Given the description of an element on the screen output the (x, y) to click on. 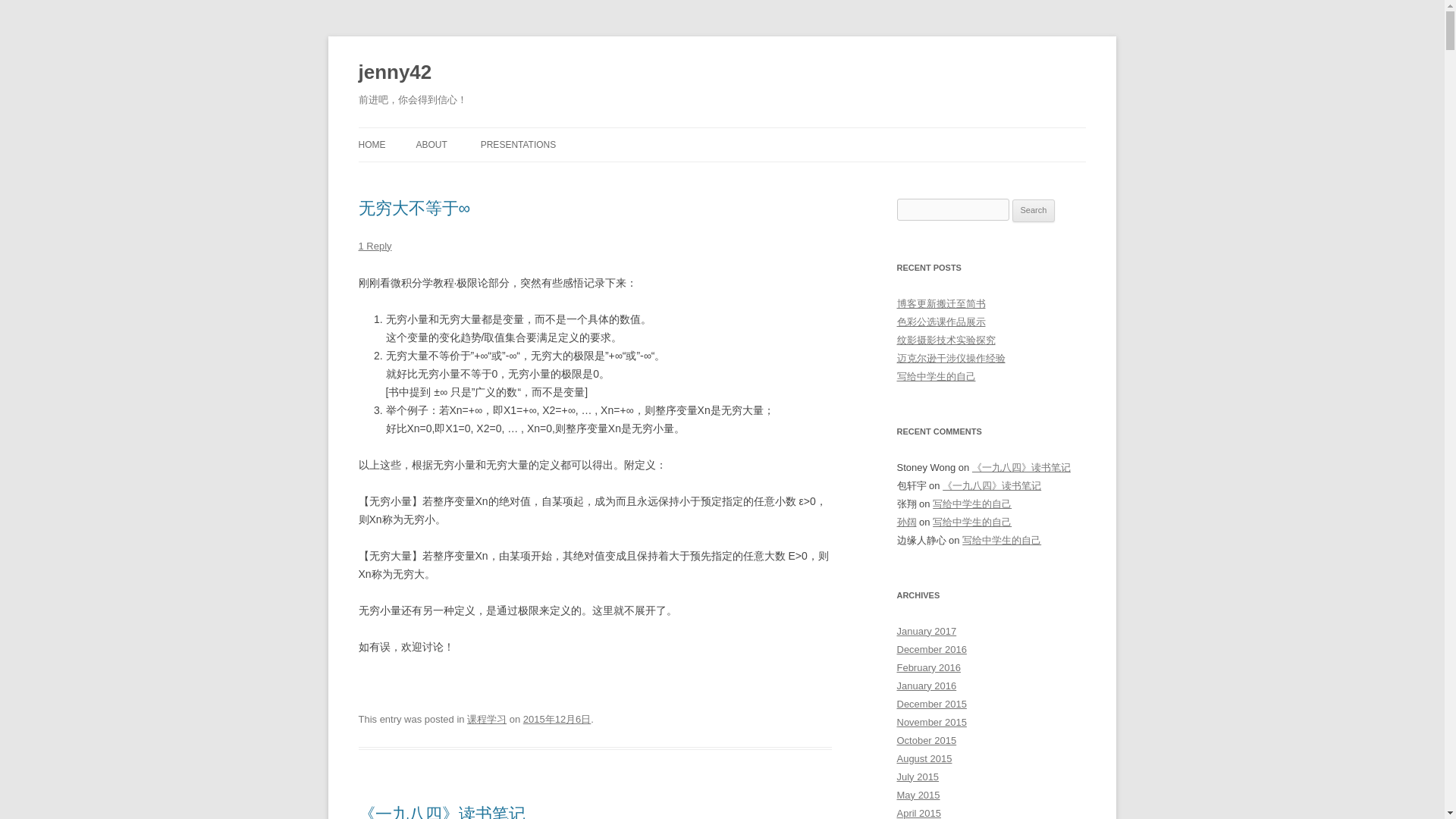
am12:02 (556, 718)
1 Reply (374, 245)
jenny42 (394, 72)
ABOUT (430, 144)
PRESENTATIONS (518, 144)
Search (1033, 210)
